Given the description of an element on the screen output the (x, y) to click on. 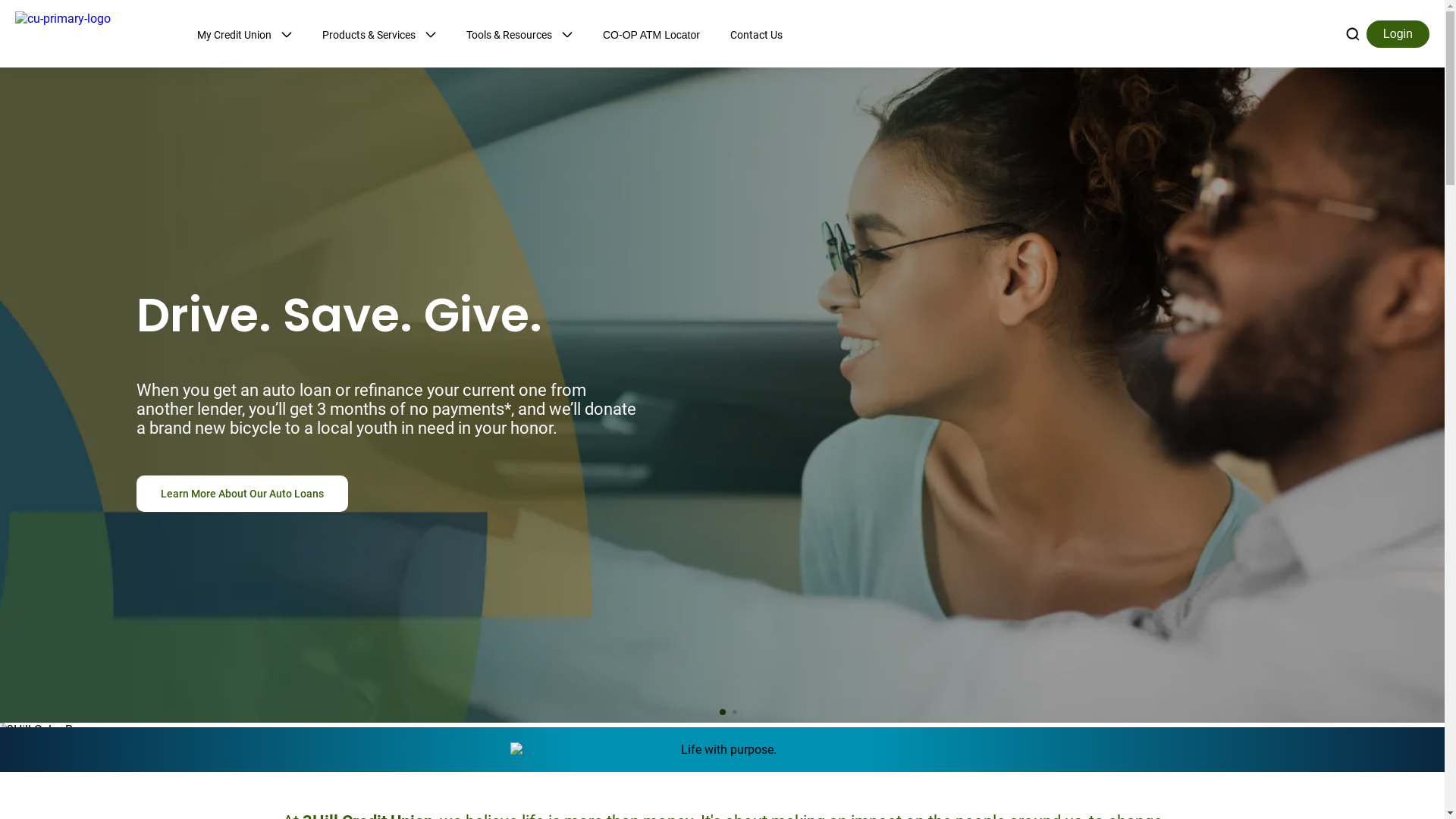
Tools & Resources Element type: text (519, 34)
Products & Services Element type: text (379, 34)
My Credit Union Element type: text (244, 34)
Login Element type: text (1397, 33)
CO-OP ATM Locator Element type: text (651, 33)
